Given the description of an element on the screen output the (x, y) to click on. 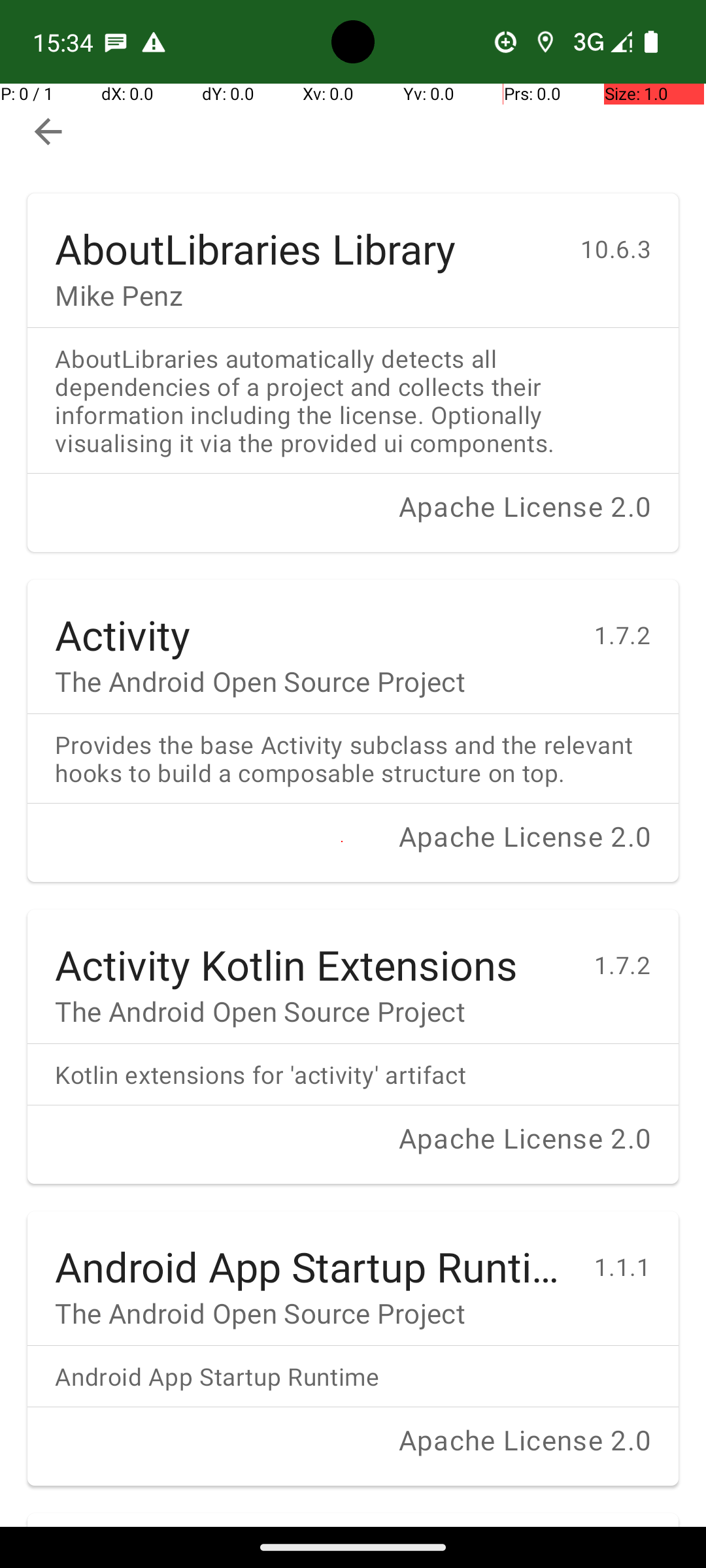
AboutLibraries Library Element type: android.widget.TextView (303, 234)
10.6.3 Element type: android.widget.TextView (629, 234)
Mike Penz Element type: android.widget.TextView (303, 294)
AboutLibraries automatically detects all dependencies of a project and collects their information including the license. Optionally visualising it via the provided ui components. Element type: android.widget.TextView (352, 400)
Apache License 2.0 Element type: android.widget.TextView (352, 519)
Activity Element type: android.widget.TextView (310, 620)
1.7.2 Element type: android.widget.TextView (636, 620)
The Android Open Source Project Element type: android.widget.TextView (310, 680)
Provides the base Activity subclass and the relevant hooks to build a composable structure on top. Element type: android.widget.TextView (352, 758)
Activity Kotlin Extensions Element type: android.widget.TextView (310, 950)
Kotlin extensions for 'activity' artifact Element type: android.widget.TextView (352, 1074)
Android App Startup Runtime Element type: android.widget.TextView (310, 1252)
1.1.1 Element type: android.widget.TextView (636, 1252)
Android AppCompat Library Element type: android.widget.TextView (310, 1519)
1.6.1 Element type: android.widget.TextView (636, 1525)
